Given the description of an element on the screen output the (x, y) to click on. 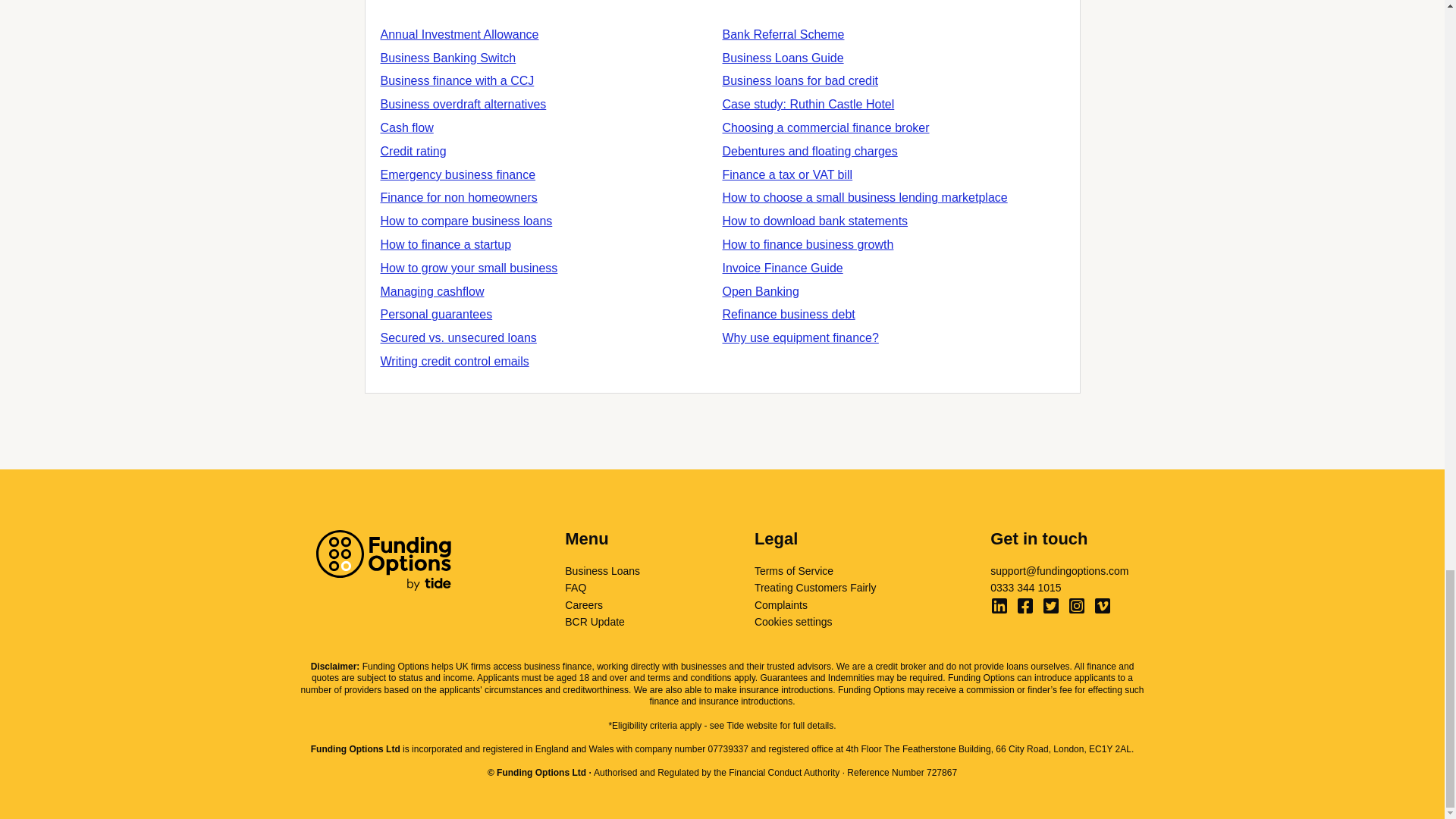
Navigate to Funding Options LinkedIn (999, 606)
Navigate to Funding Options Vimeo (1102, 606)
Navigate to Funding Options Instagram (1076, 606)
Navigate to Funding Options Twitter (1050, 606)
Navigate to Funding Options Facebook (1024, 606)
Funding Options (382, 559)
